Given the description of an element on the screen output the (x, y) to click on. 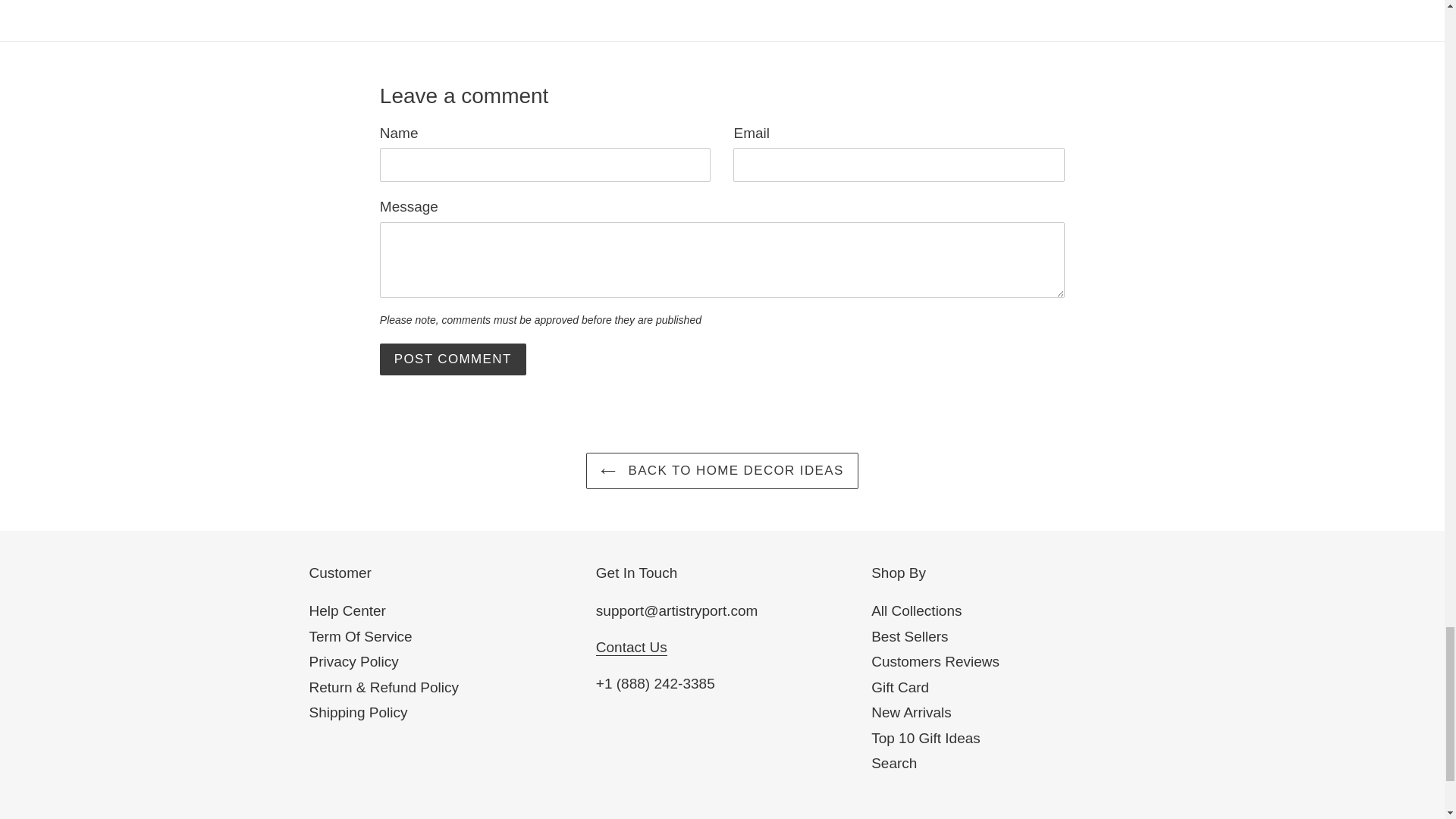
Post comment (452, 359)
Contact Us (630, 647)
